Given the description of an element on the screen output the (x, y) to click on. 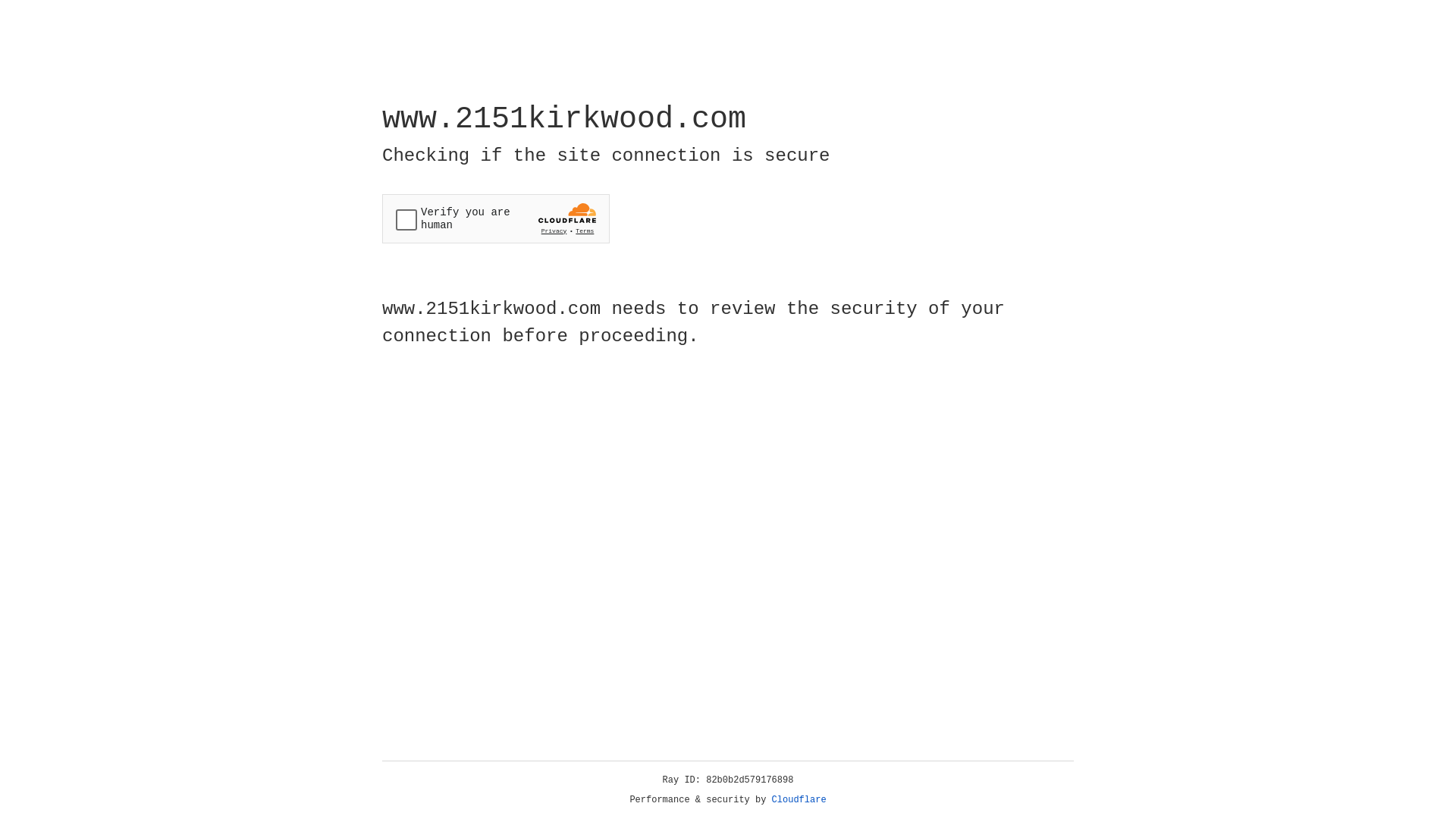
Widget containing a Cloudflare security challenge Element type: hover (495, 218)
Cloudflare Element type: text (798, 799)
